Given the description of an element on the screen output the (x, y) to click on. 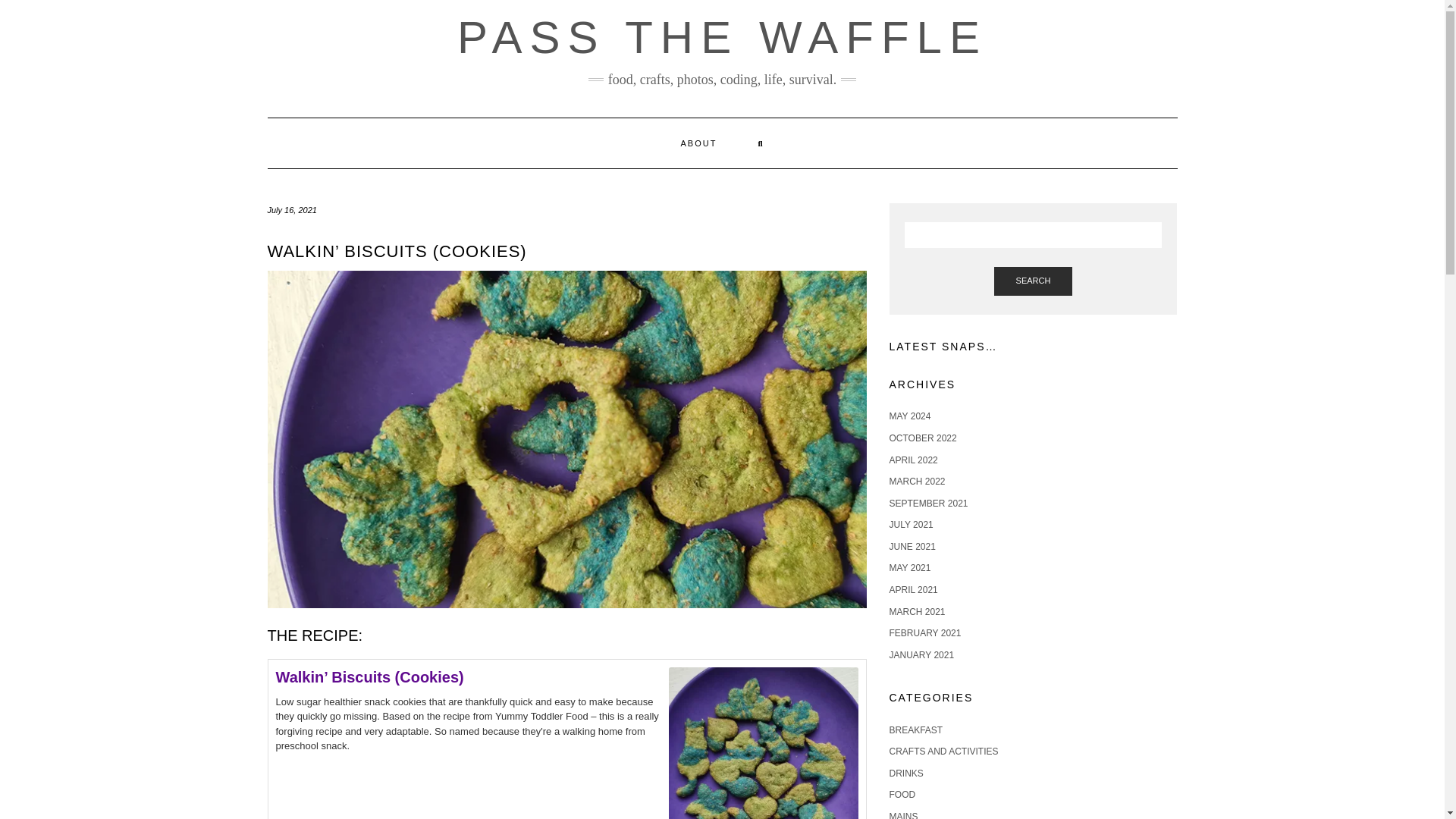
MAY 2024 (909, 416)
SEPTEMBER 2021 (928, 502)
BREAKFAST (915, 729)
SEARCH (1033, 280)
PASS THE WAFFLE (722, 37)
APRIL 2021 (912, 589)
MAY 2021 (909, 567)
MARCH 2022 (916, 480)
JULY 2021 (910, 524)
FEBRUARY 2021 (924, 633)
